Given the description of an element on the screen output the (x, y) to click on. 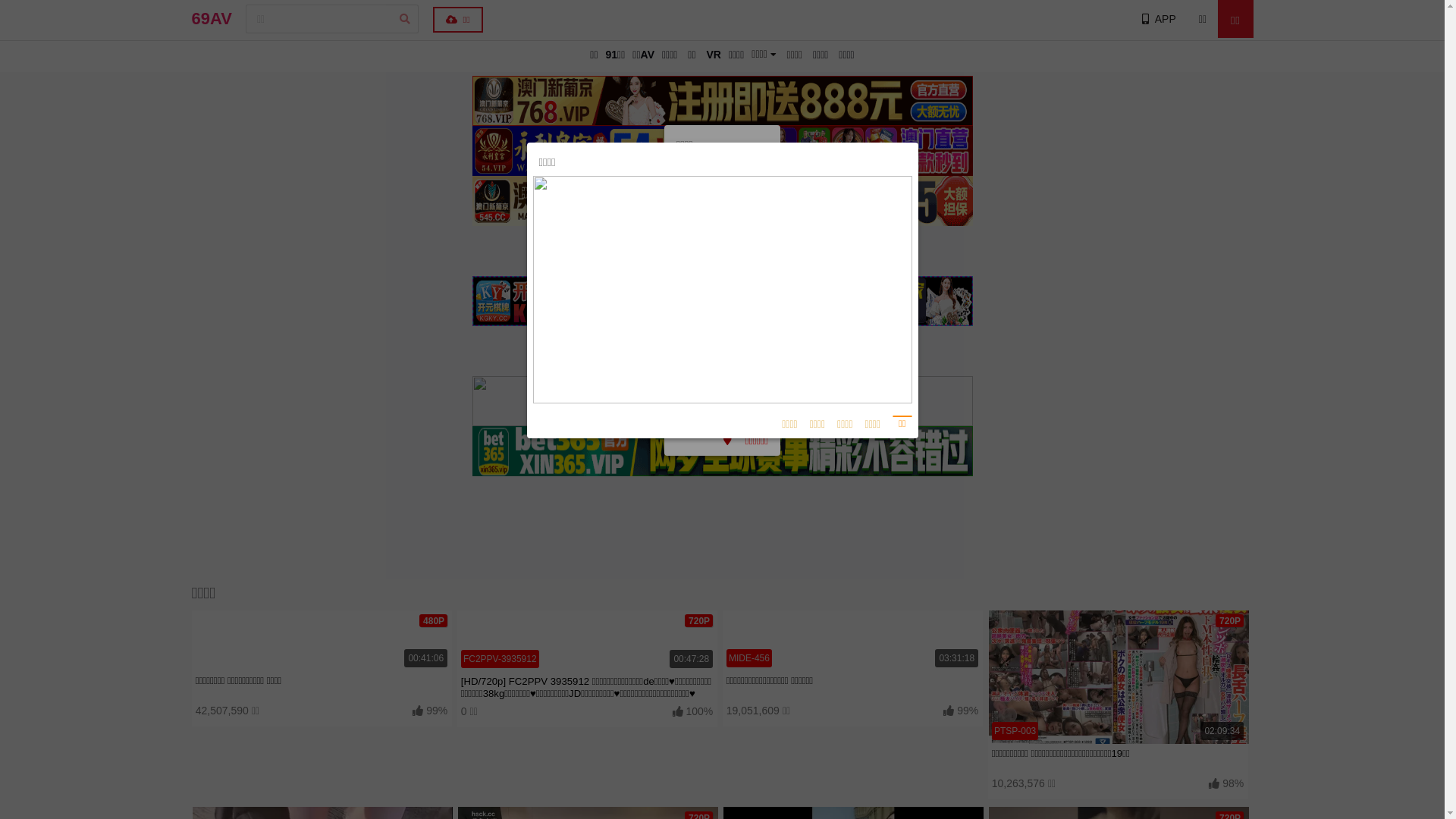
69AV Element type: text (211, 18)
https://69a8755.xyz Element type: text (722, 341)
https://69a8737.xyz Element type: text (722, 404)
03:31:18
MIDE-456 Element type: text (851, 640)
https://69a8767.xyz Element type: text (722, 362)
APP Element type: text (1157, 18)
00:47:28
720P
FC2PPV-3935912 Element type: text (586, 640)
00:41:06
480P Element type: text (321, 640)
https://69a8758.xyz Element type: text (722, 277)
02:09:34
720P
PTSP-003 Element type: text (1117, 676)
https://69a8761.xyz Element type: text (722, 298)
https://69a8780.xyz Element type: text (722, 256)
VR Element type: text (713, 54)
https://69a8860.xyz Element type: text (722, 213)
https://69a8877.xyz Element type: text (722, 383)
https://69a8807.xyz Element type: text (722, 235)
https://69a8742.xyz Element type: text (722, 319)
